Given the description of an element on the screen output the (x, y) to click on. 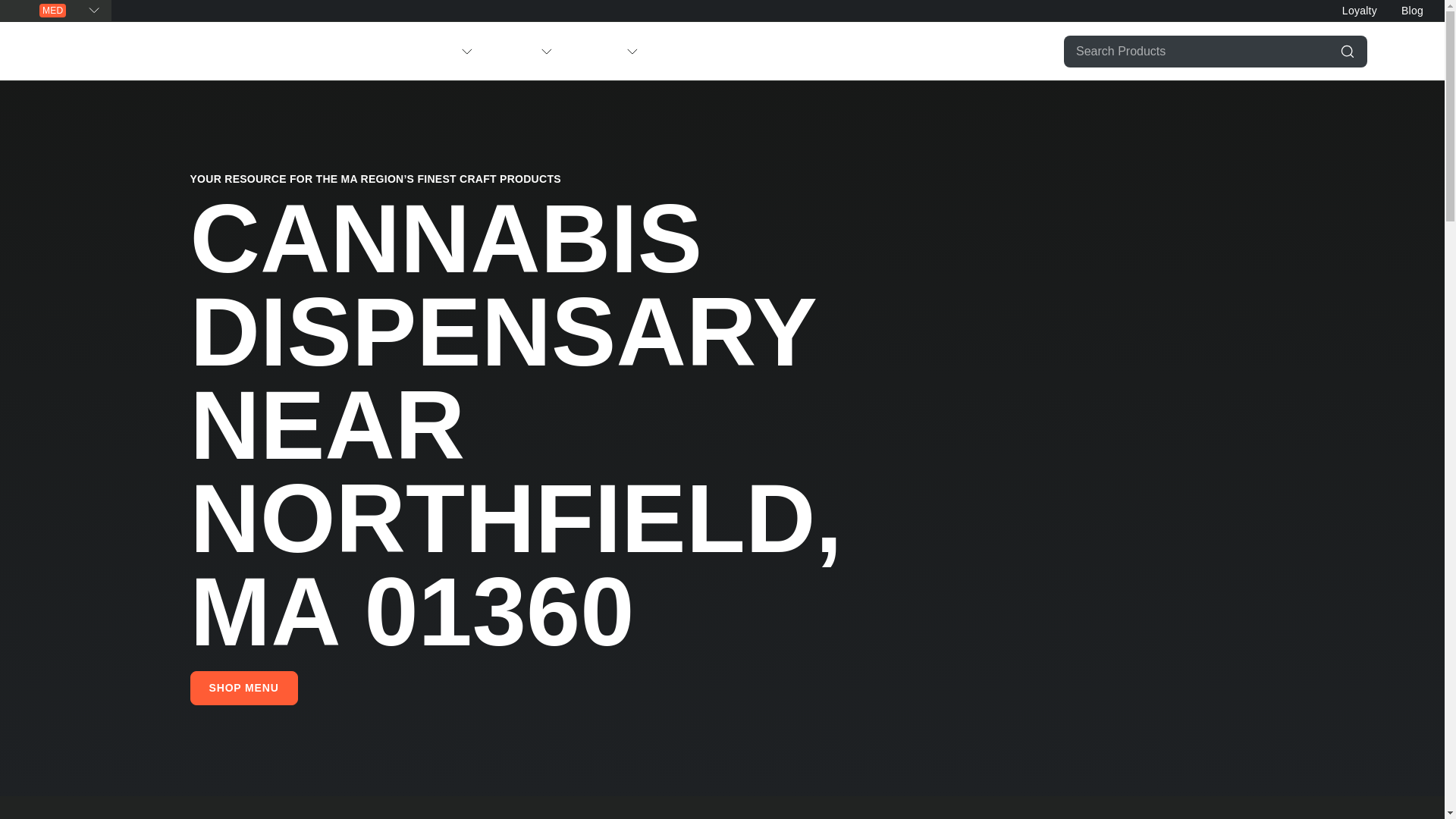
ABOUT (516, 50)
SHOP (441, 50)
